Given the description of an element on the screen output the (x, y) to click on. 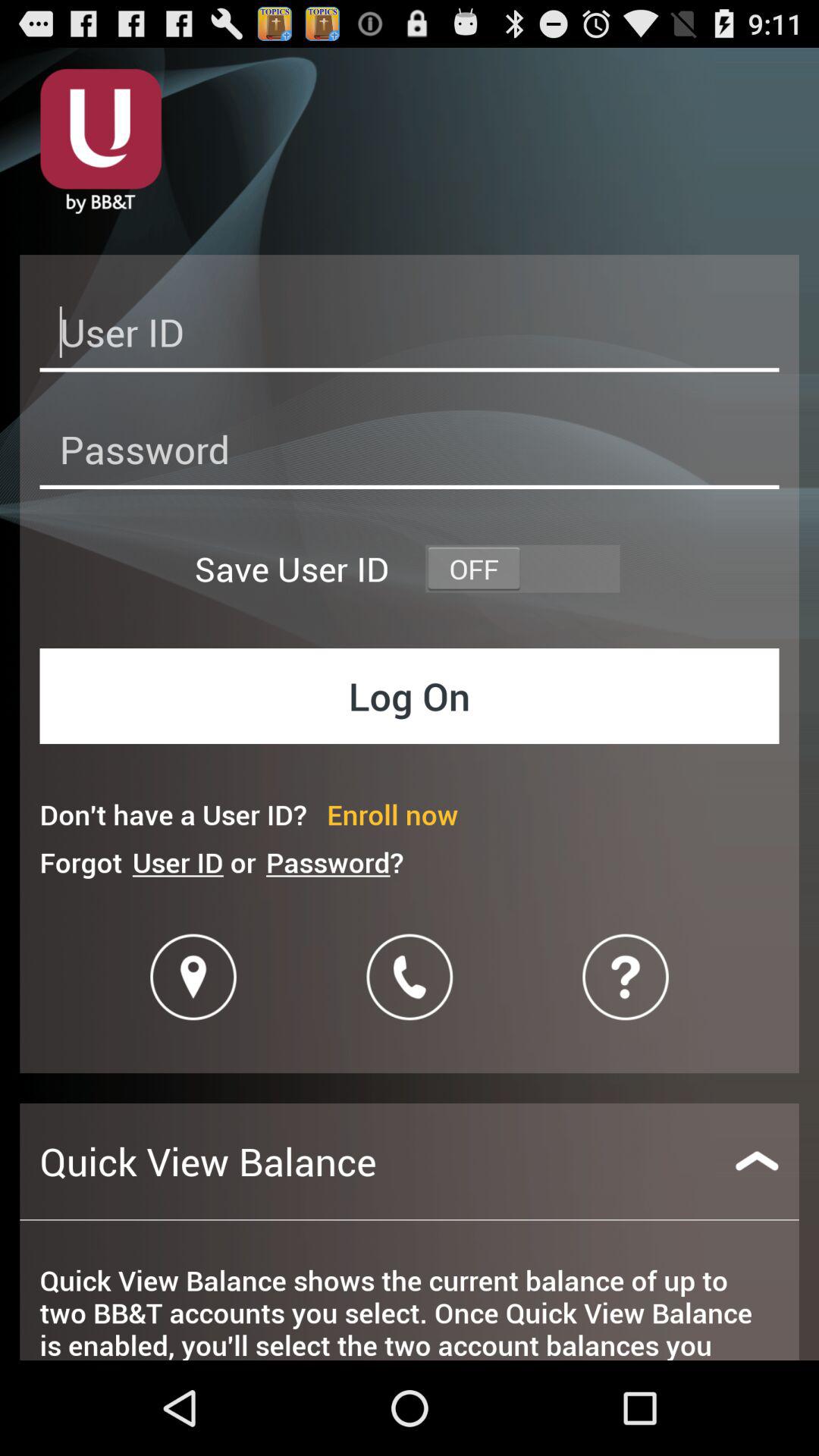
enter the userid (409, 336)
